Given the description of an element on the screen output the (x, y) to click on. 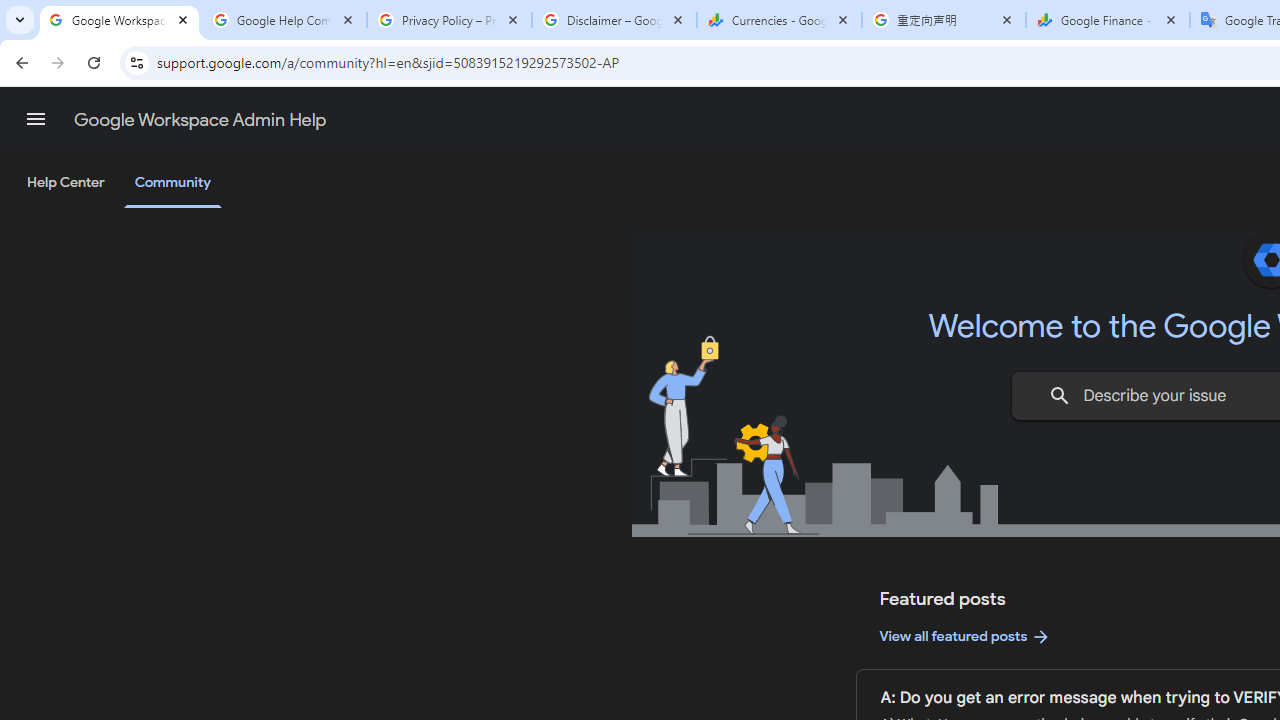
New (104, 208)
Save As (104, 668)
Info (104, 559)
Documents (866, 224)
